Given the description of an element on the screen output the (x, y) to click on. 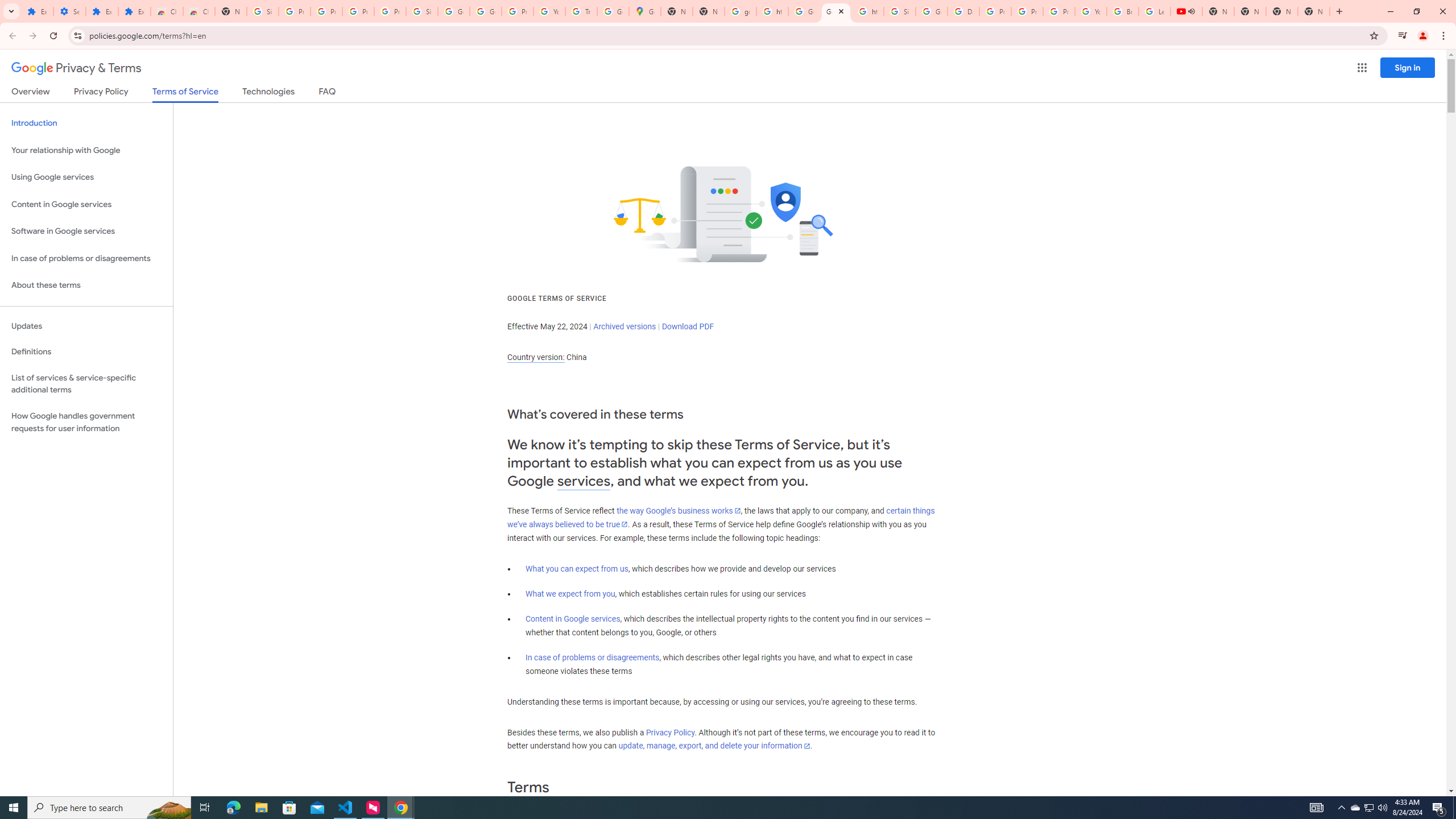
YouTube (1091, 11)
In case of problems or disagreements (592, 657)
Privacy Help Center - Policies Help (995, 11)
Extensions (134, 11)
Using Google services (86, 176)
update, manage, export, and delete your information (714, 746)
Privacy Help Center - Policies Help (1027, 11)
How Google handles government requests for user information (86, 422)
What we expect from you (570, 593)
